Given the description of an element on the screen output the (x, y) to click on. 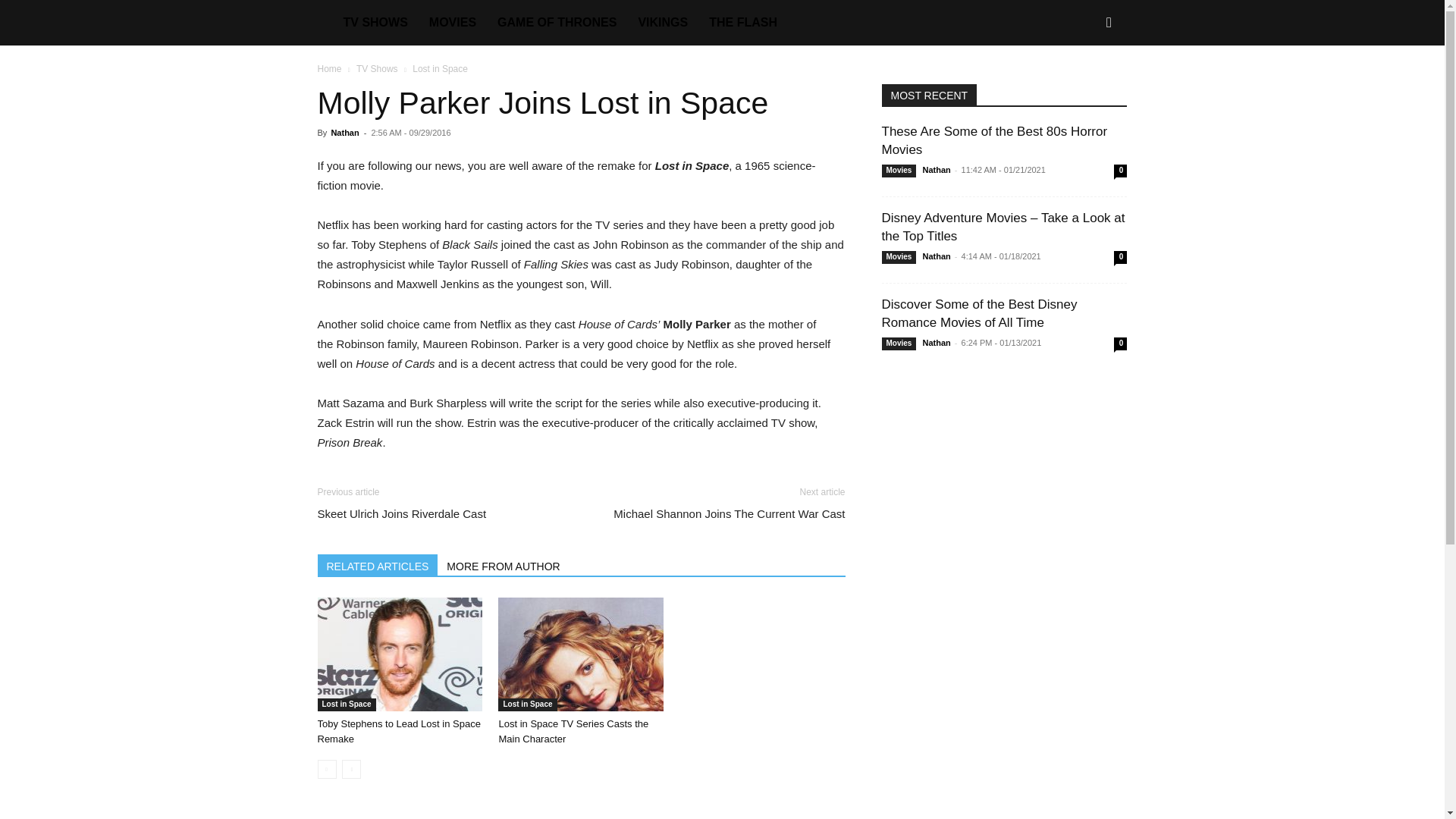
Toby Stephens to Lead Lost in Space Remake (398, 731)
View all posts in TV Shows (376, 68)
Lost in Space TV Series Casts the Main Character (572, 731)
VIKINGS (662, 22)
Skeet Ulrich Joins Riverdale Cast (401, 513)
Michael Shannon Joins The Current War Cast (728, 513)
Movies (897, 256)
Discover Some of the Best Disney Romance Movies of All Time (978, 313)
Toby Stephens to Lead Lost in Space Remake (399, 654)
Nathan (935, 169)
Lost in Space TV Series Casts the Main Character (572, 731)
0 (1119, 170)
Movies (897, 170)
Home (328, 68)
These Are Some of the Best 80s Horror Movies (993, 140)
